Given the description of an element on the screen output the (x, y) to click on. 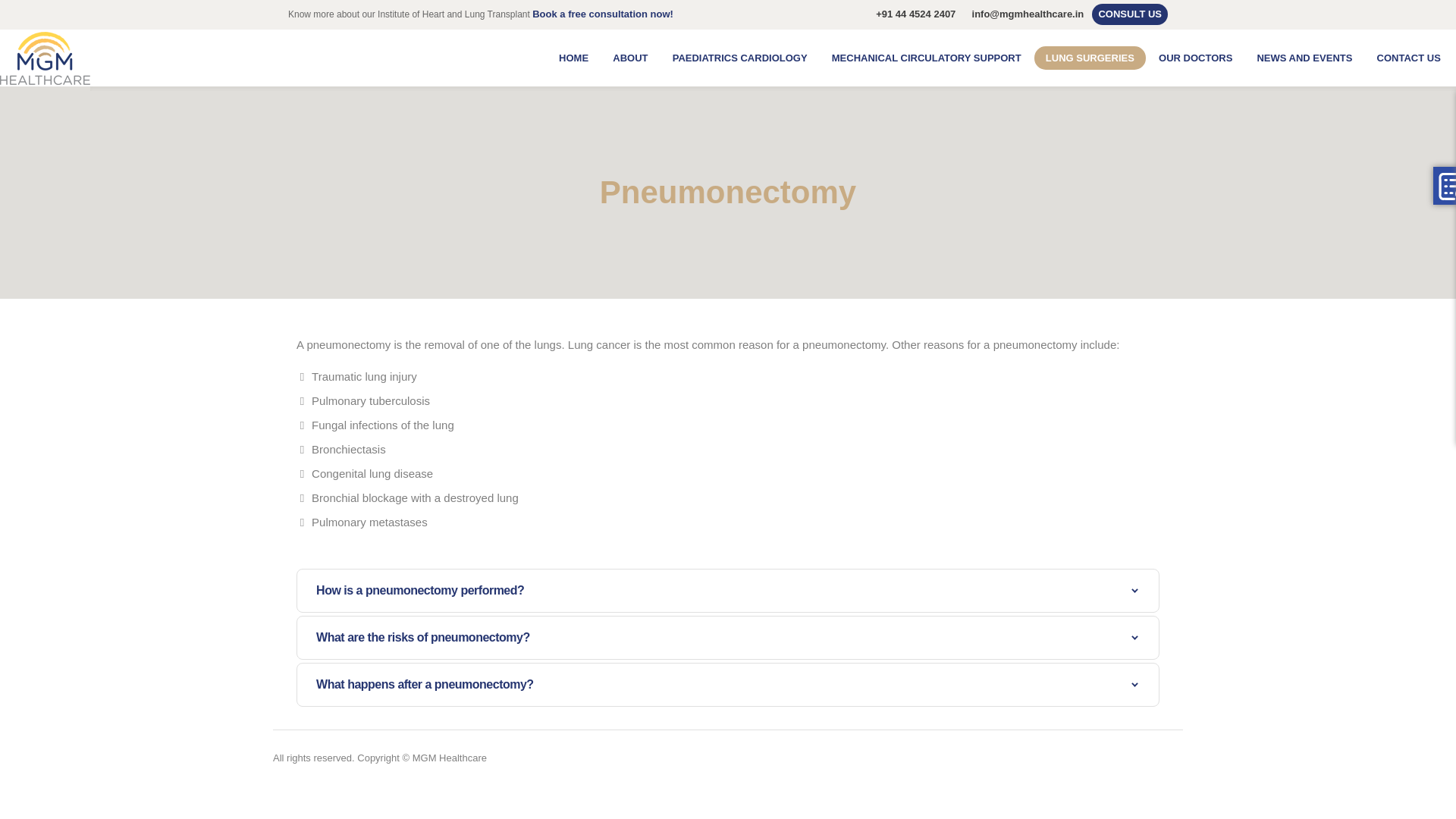
How is a pneumonectomy performed? (727, 590)
Book a free consultation now! (602, 14)
CONTACT US (1408, 57)
What are the risks of pneumonectomy? (727, 637)
CONSULT US (1129, 14)
HOME (573, 57)
MGM Healthcare (45, 58)
MECHANICAL CIRCULATORY SUPPORT (926, 57)
ABOUT (630, 57)
LUNG SURGERIES (1089, 57)
